Given the description of an element on the screen output the (x, y) to click on. 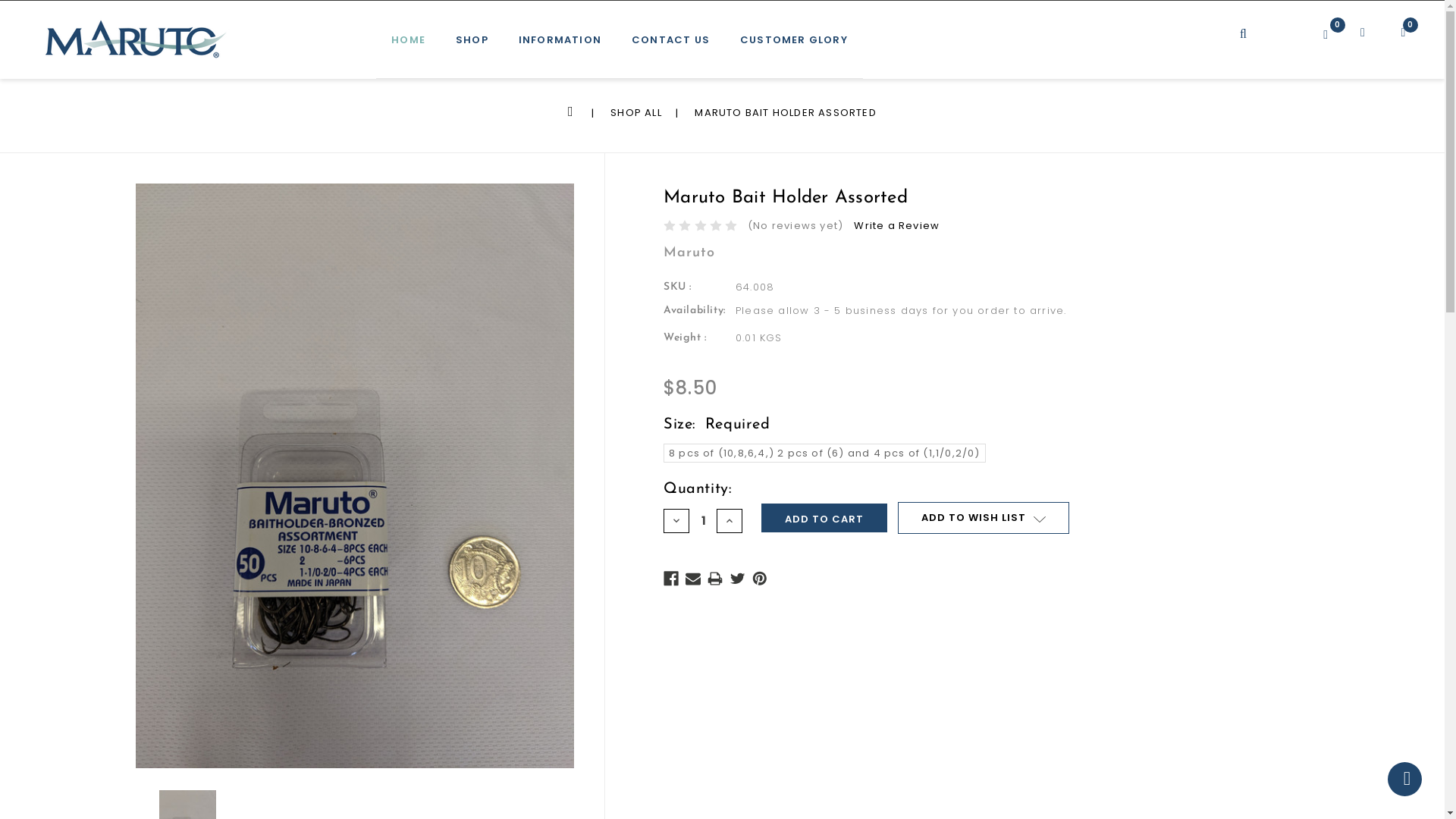
MARUTO BAIT HOLDER ASSORTED Element type: text (784, 112)
CONTACT US Element type: text (670, 46)
Maruto Hooks Element type: hover (136, 38)
ADD TO WISH LIST Element type: text (983, 517)
SHOP ALL Element type: text (635, 112)
SEARCH Element type: text (1260, 22)
COMPARE 0 Element type: text (1337, 30)
Maruto Element type: text (689, 252)
HOME Element type: text (408, 46)
CUSTOMER GLORY Element type: text (793, 46)
Scroll Element type: text (1404, 779)
Write a Review Element type: text (896, 225)
SHOP Element type: text (471, 46)
INFORMATION Element type: text (559, 46)
INCREASE QUANTITY: Element type: text (729, 520)
Add to Cart Element type: text (824, 517)
SHOPPING CART
0 Element type: text (1396, 38)
DECREASE QUANTITY: Element type: text (676, 520)
Pack of 50 Element type: hover (353, 475)
HOME Element type: text (572, 112)
